Given the description of an element on the screen output the (x, y) to click on. 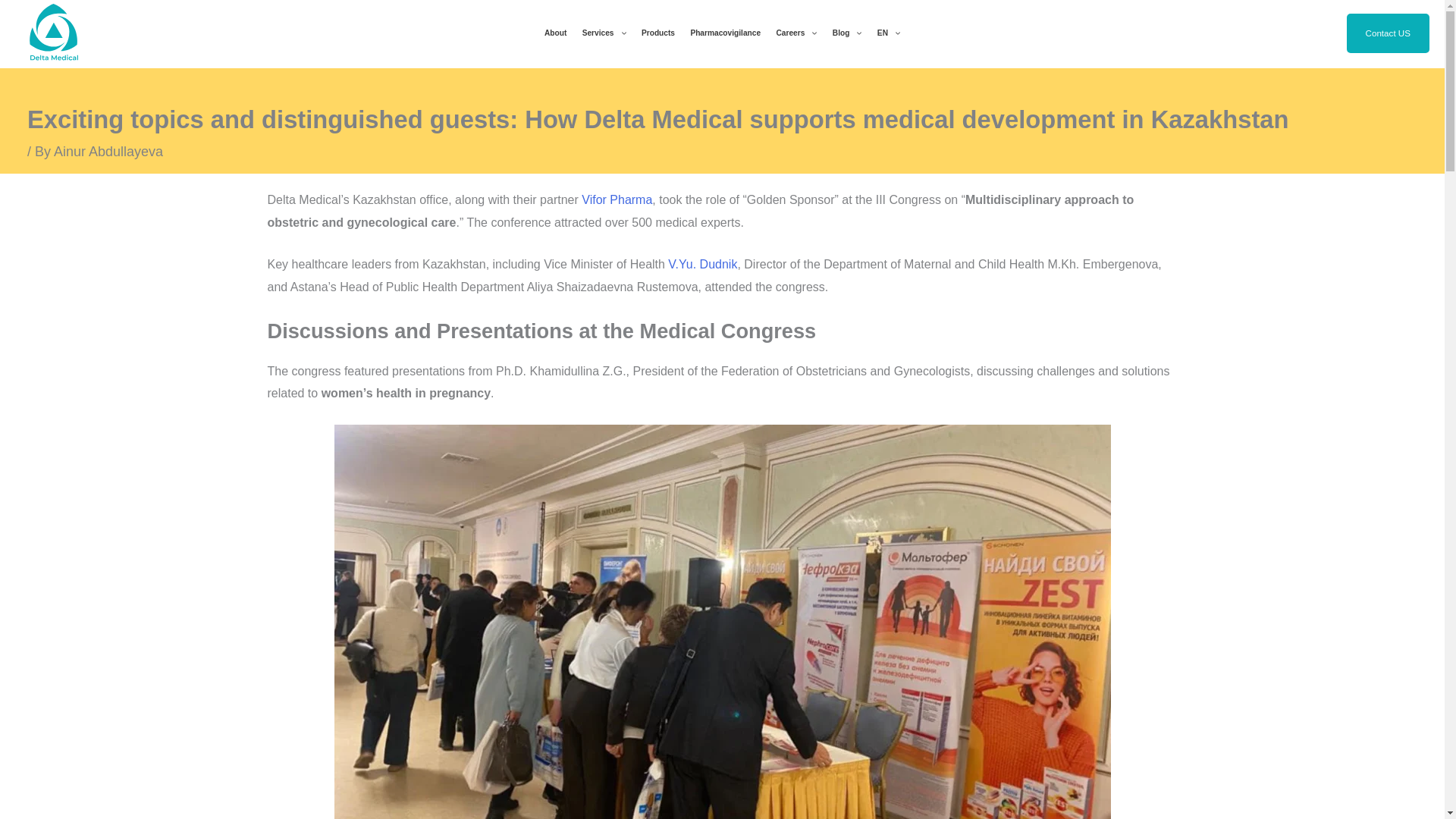
Contact US (1387, 33)
Pharmacovigilance (725, 33)
View all posts by Ainur Abdullayeva (108, 151)
Services (603, 33)
Careers (796, 33)
